Given the description of an element on the screen output the (x, y) to click on. 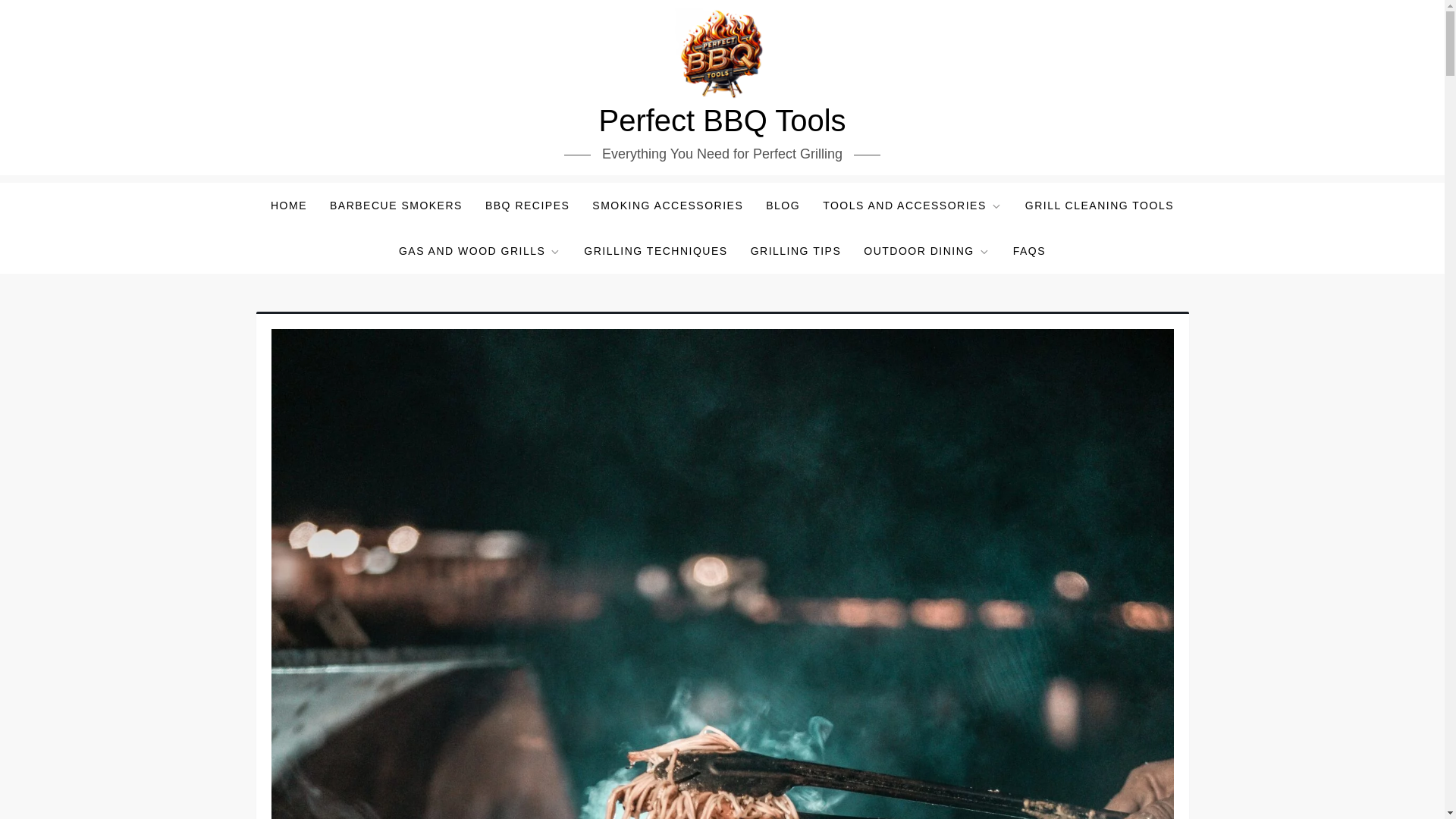
Perfect BBQ Tools (721, 120)
BLOG (782, 205)
OUTDOOR DINING (926, 250)
FAQS (1029, 250)
BBQ RECIPES (527, 205)
BARBECUE SMOKERS (396, 205)
GRILLING TECHNIQUES (655, 250)
TOOLS AND ACCESSORIES (911, 205)
GRILLING TIPS (796, 250)
GAS AND WOOD GRILLS (479, 250)
